Given the description of an element on the screen output the (x, y) to click on. 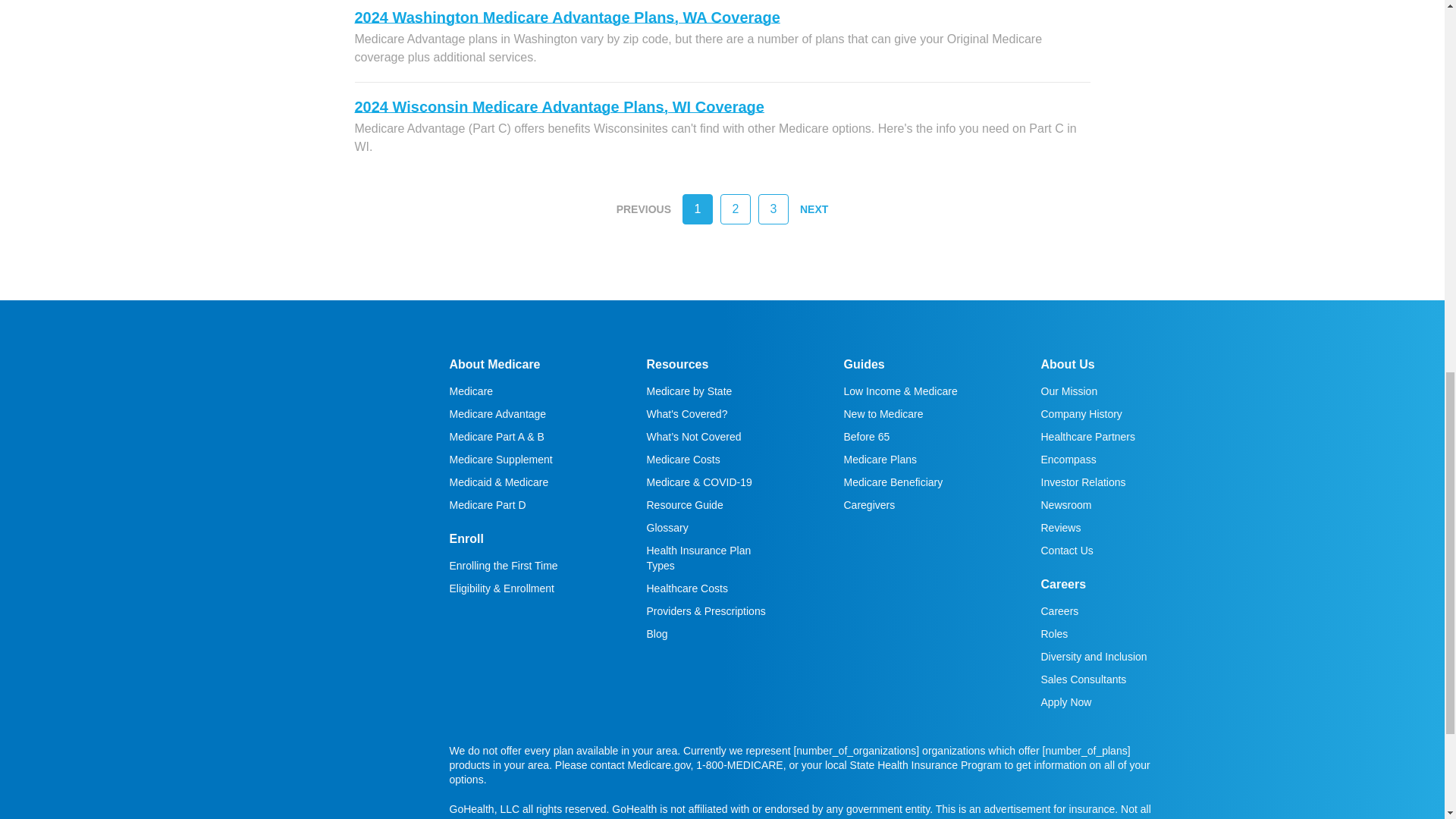
Opens in a new window (346, 409)
Opens in a new window (373, 409)
Opens in a new window (1083, 481)
Opens in a new window (402, 409)
Opens in a new window (290, 409)
Opens in a new window (317, 409)
